Given the description of an element on the screen output the (x, y) to click on. 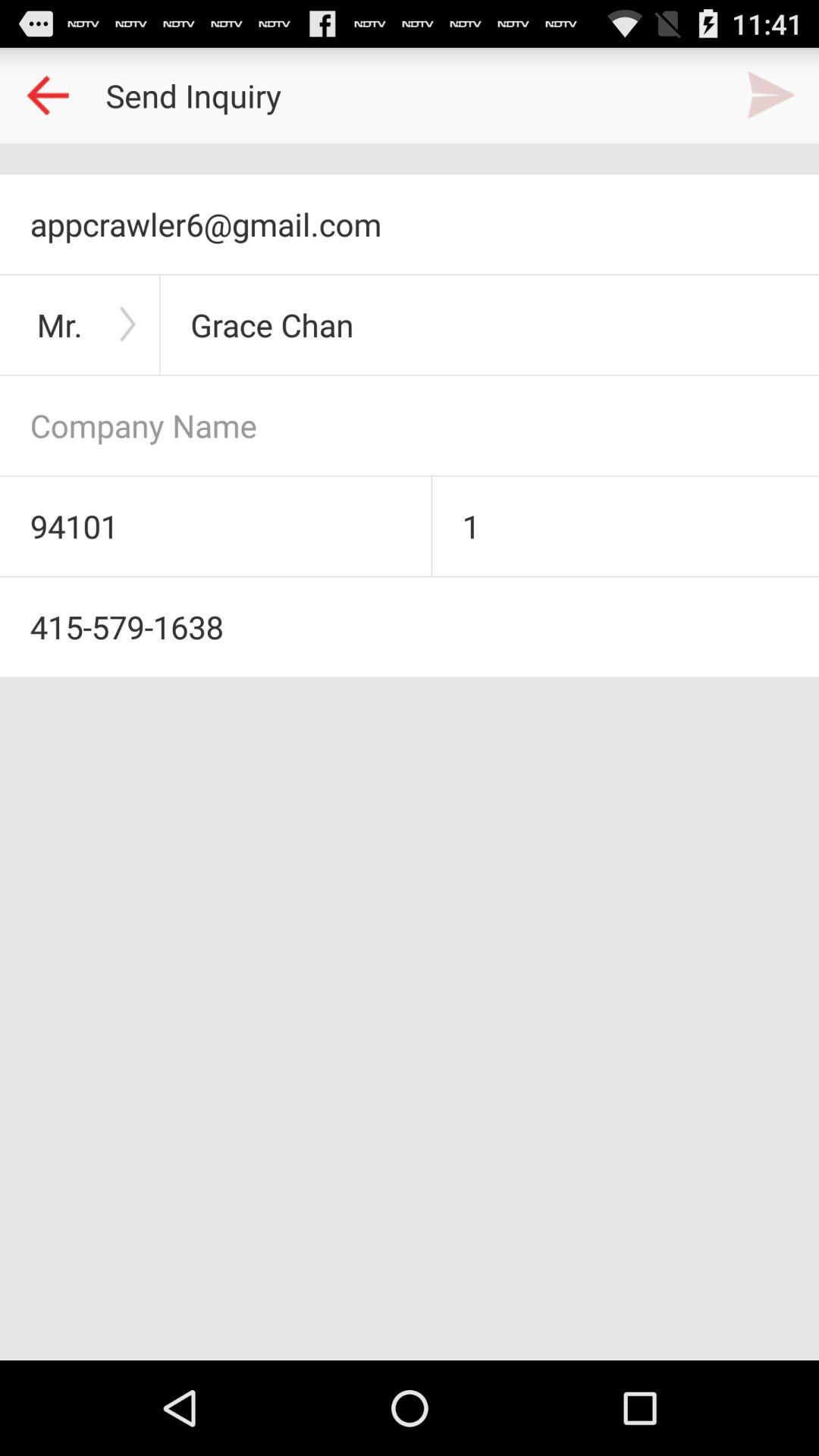
send email (771, 95)
